Given the description of an element on the screen output the (x, y) to click on. 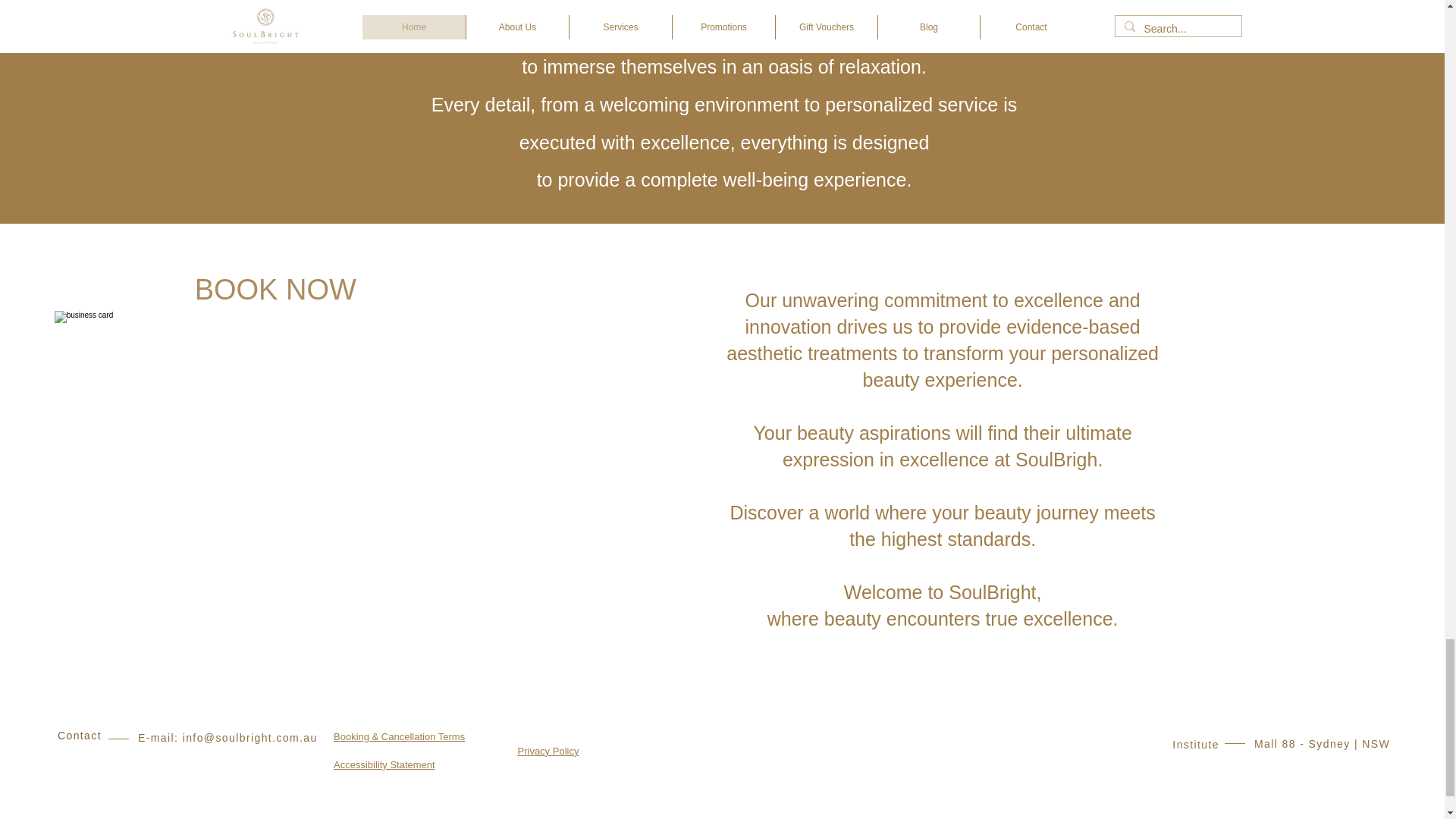
Privacy Policy (547, 750)
Accessibility Statement (384, 764)
